Given the description of an element on the screen output the (x, y) to click on. 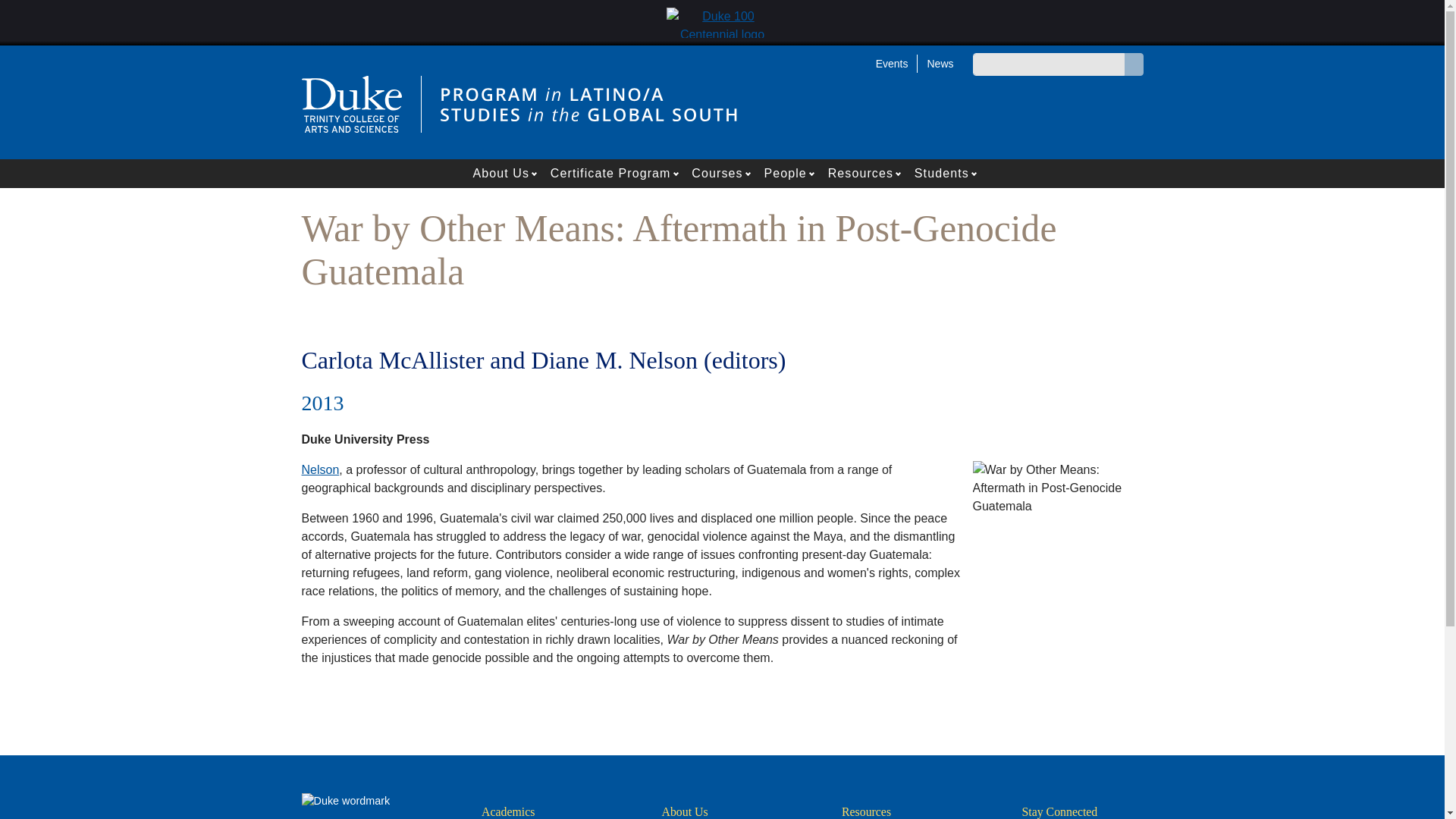
Open Resources submenu (899, 173)
People (780, 173)
Resources (855, 173)
News (935, 63)
Students (937, 173)
Open People submenu (813, 173)
Open Students submenu (975, 173)
Open Courses submenu (749, 173)
Duke University - Trinity College of Arts and Sciences (351, 103)
